Given the description of an element on the screen output the (x, y) to click on. 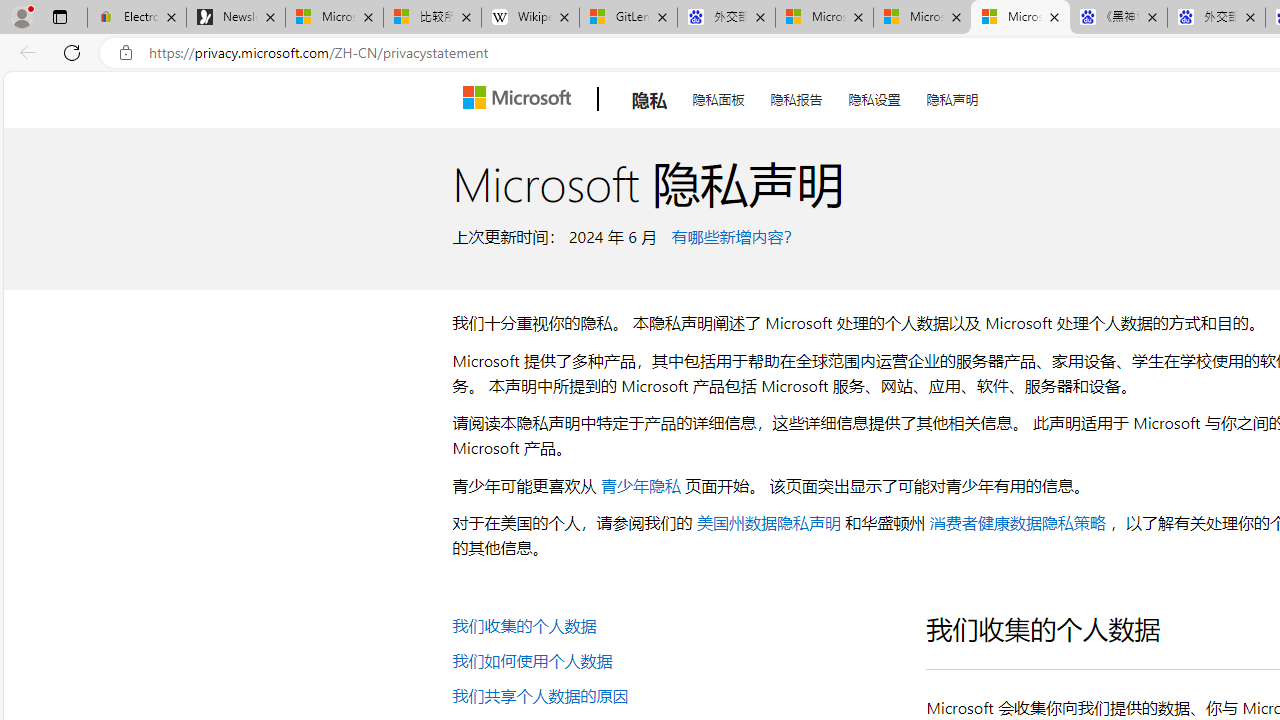
Microsoft (520, 99)
Wikipedia (530, 17)
